Given the description of an element on the screen output the (x, y) to click on. 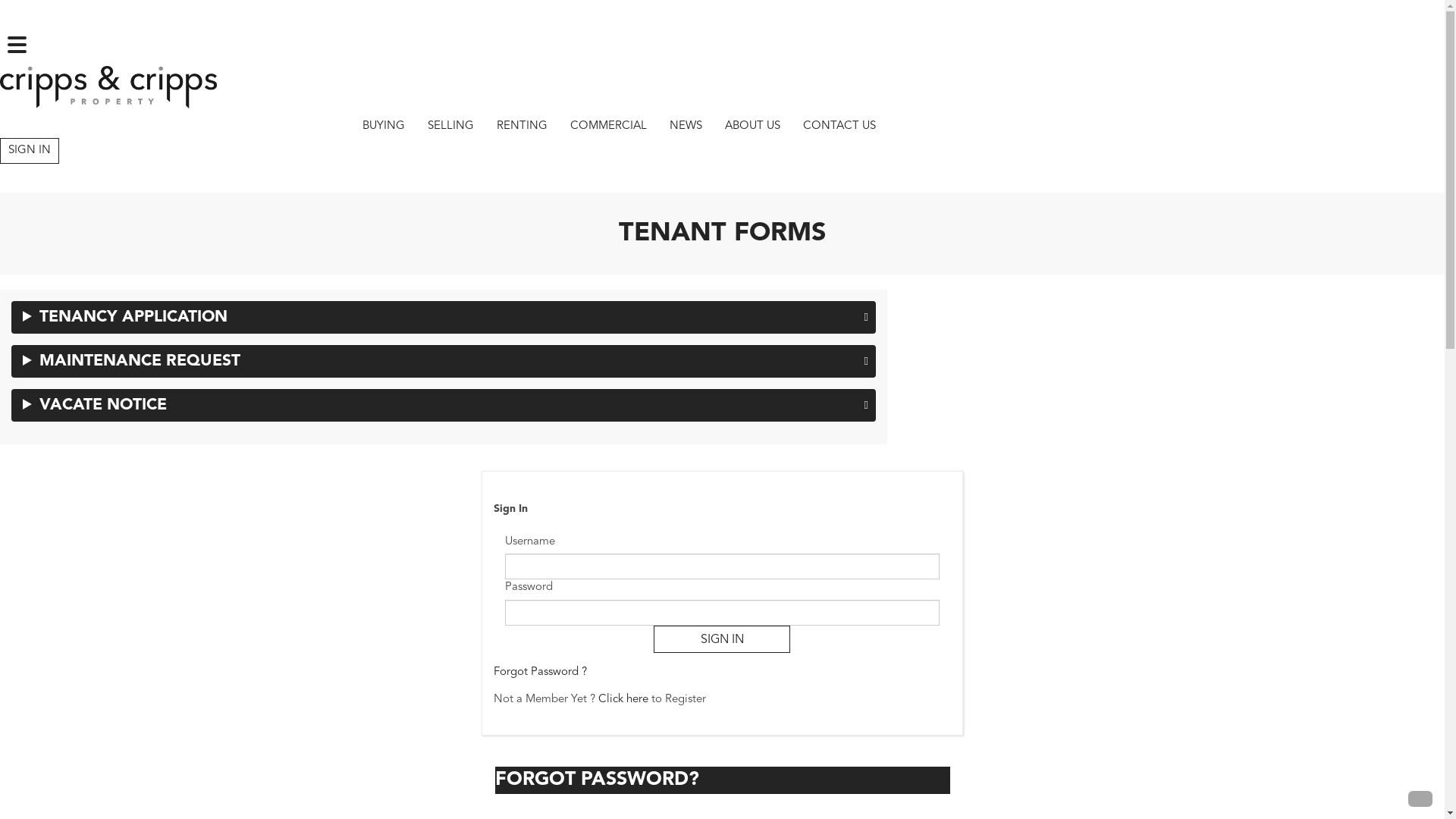
BUYING Element type: text (383, 126)
Forgot Password ? Element type: text (539, 671)
NEWS Element type: text (685, 126)
SELLING Element type: text (450, 126)
ABOUT US Element type: text (752, 126)
CONTACT US Element type: text (839, 126)
SUBMIT Element type: text (119, 716)
COMMERCIAL Element type: text (608, 126)
SIGN IN Element type: text (721, 638)
RENTING Element type: text (521, 126)
Click here Element type: text (623, 699)
SUBMIT Element type: text (119, 742)
SIGN IN Element type: text (29, 150)
